Given the description of an element on the screen output the (x, y) to click on. 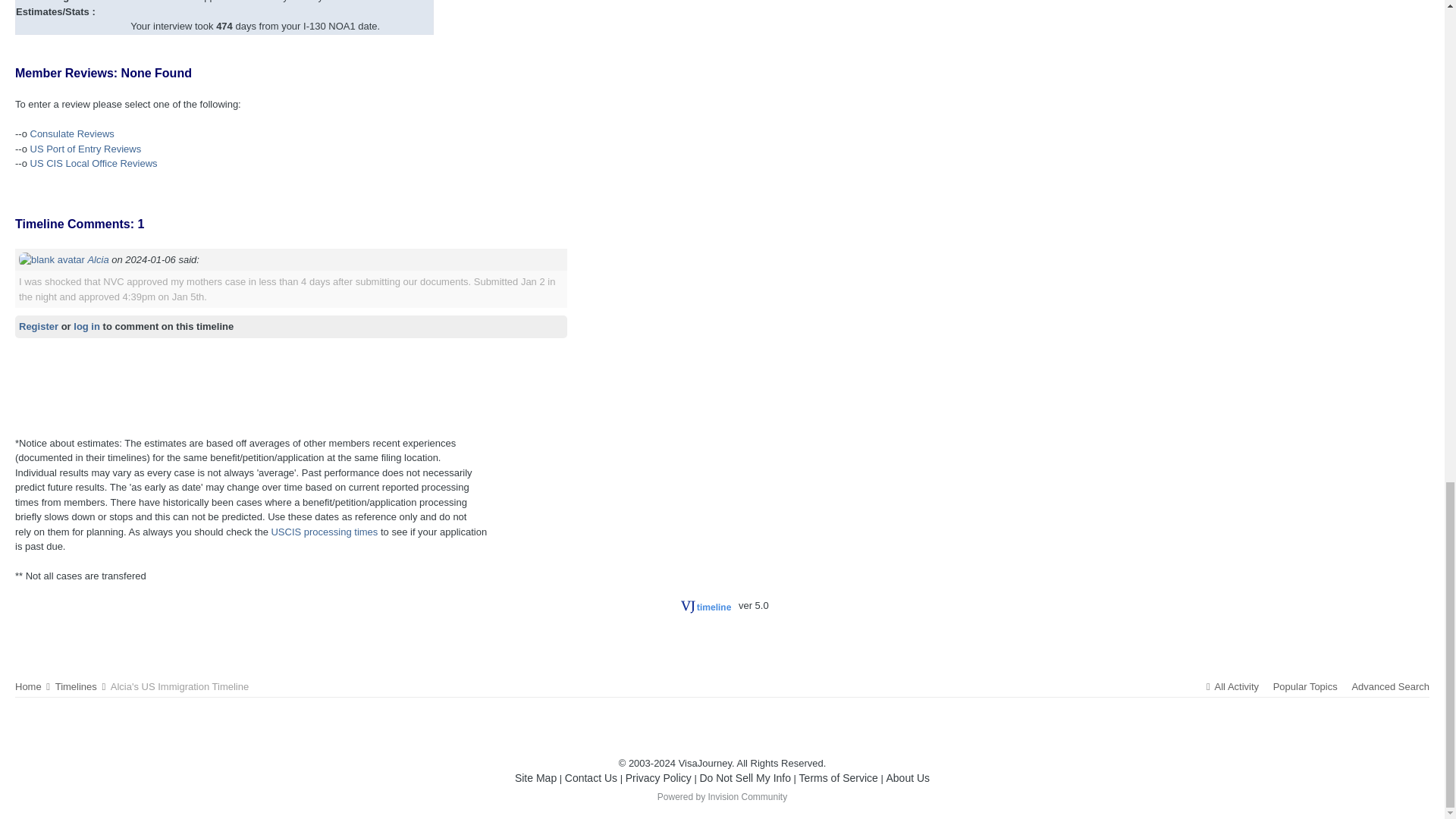
Timelines (81, 686)
Home (33, 686)
Invision Community (722, 796)
